Given the description of an element on the screen output the (x, y) to click on. 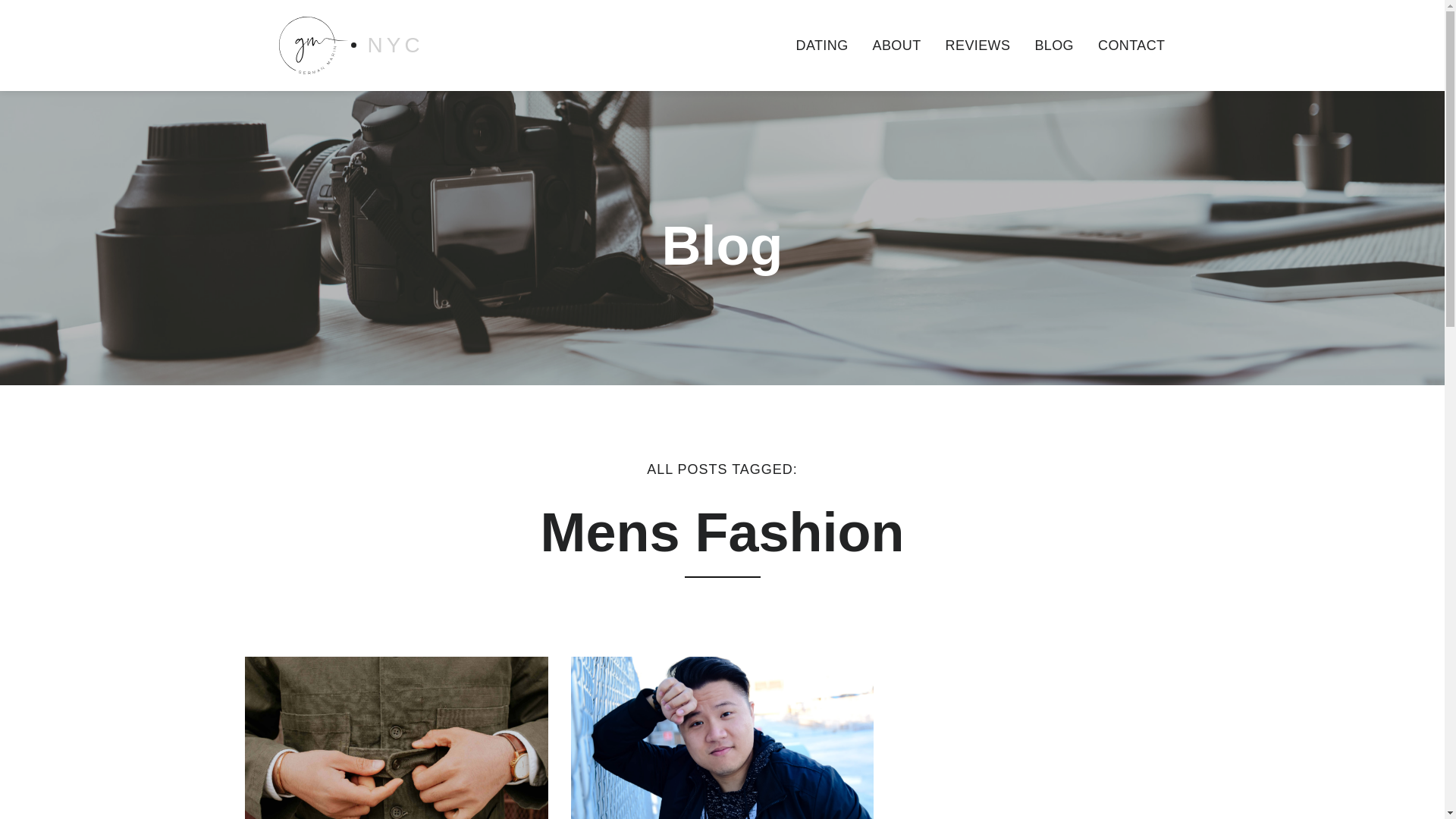
CONTACT (1131, 45)
NYC (350, 44)
ABOUT (896, 45)
DATING (821, 45)
BLOG (1054, 45)
REVIEWS (978, 45)
